Given the description of an element on the screen output the (x, y) to click on. 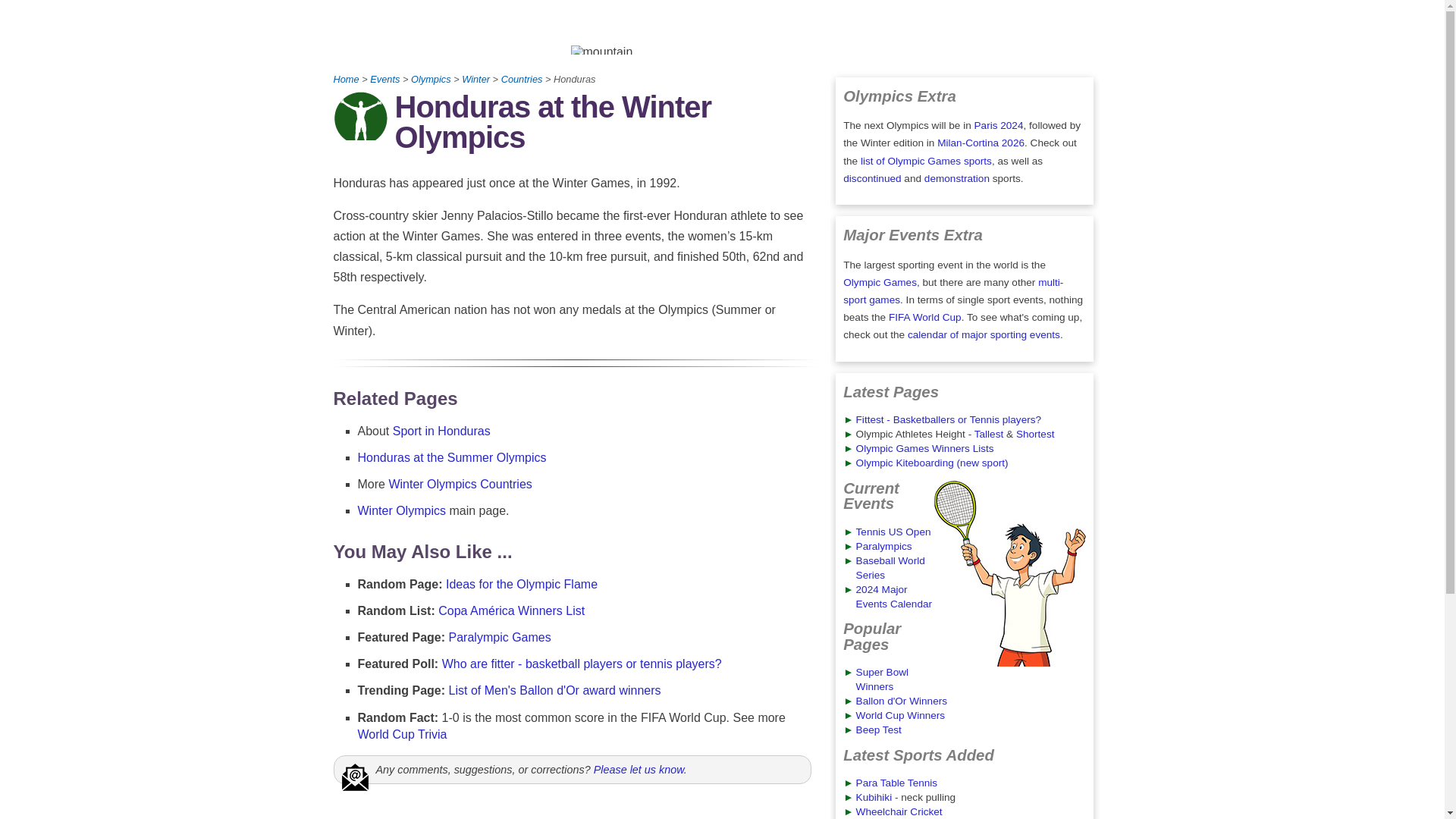
discontinued (872, 178)
Home (346, 79)
Shortest (1035, 433)
Sport in Honduras (441, 431)
Olympic Games Winners Lists (925, 448)
Events (383, 79)
World Cup Winners (900, 715)
Winter Olympics Countries (459, 483)
Ballon d'Or Winners (901, 700)
Olympics (430, 79)
